Given the description of an element on the screen output the (x, y) to click on. 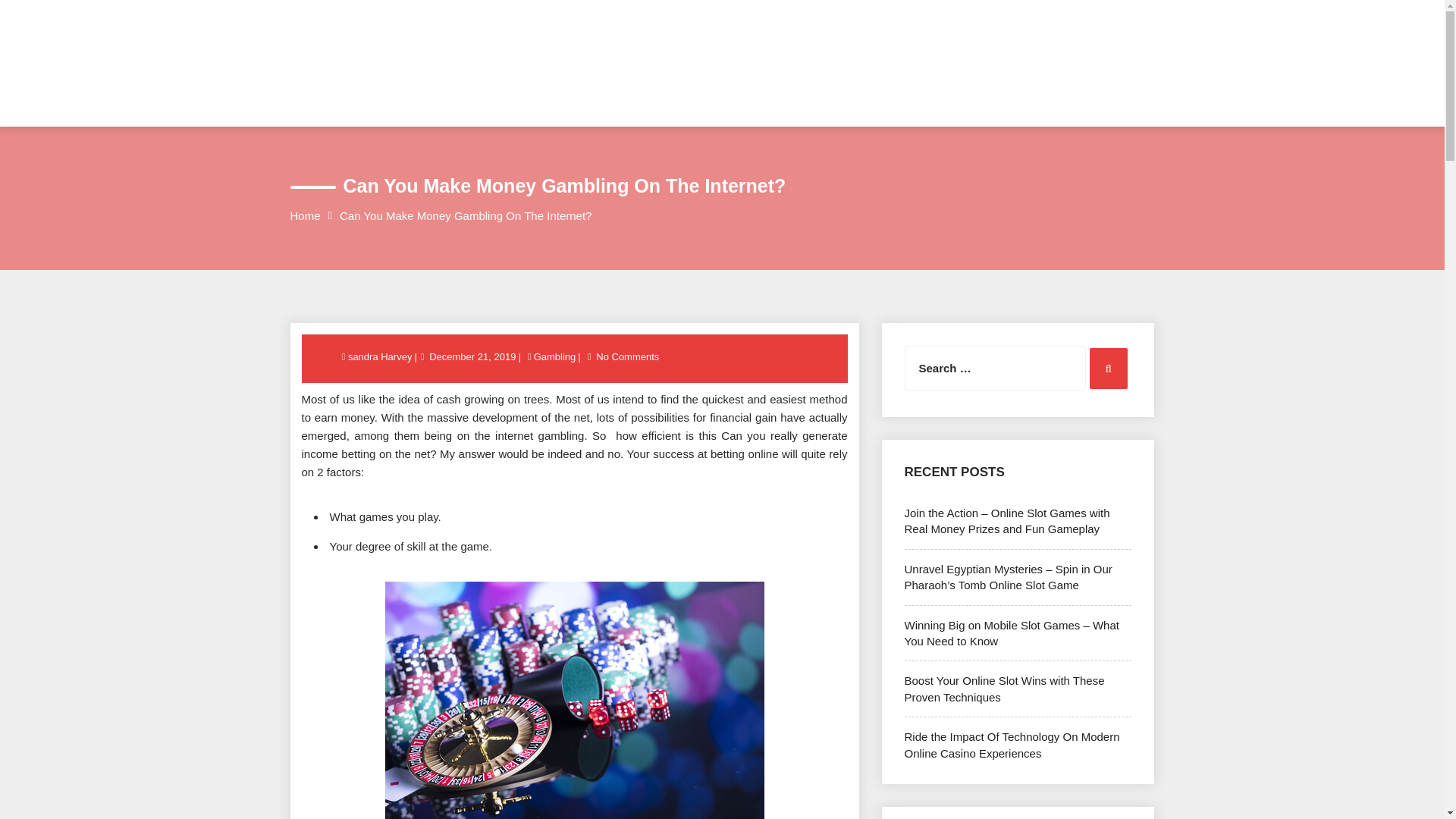
BETTING (583, 103)
Home (304, 215)
LOTTERY (949, 103)
GAMBLING (684, 103)
sandra Harvey (380, 356)
Boost Your Online Slot Wins with These Proven Techniques (1003, 688)
CASINO (490, 103)
Gambling (554, 356)
December 21, 2019 (472, 356)
No Comments (627, 356)
Search (1107, 368)
